Given the description of an element on the screen output the (x, y) to click on. 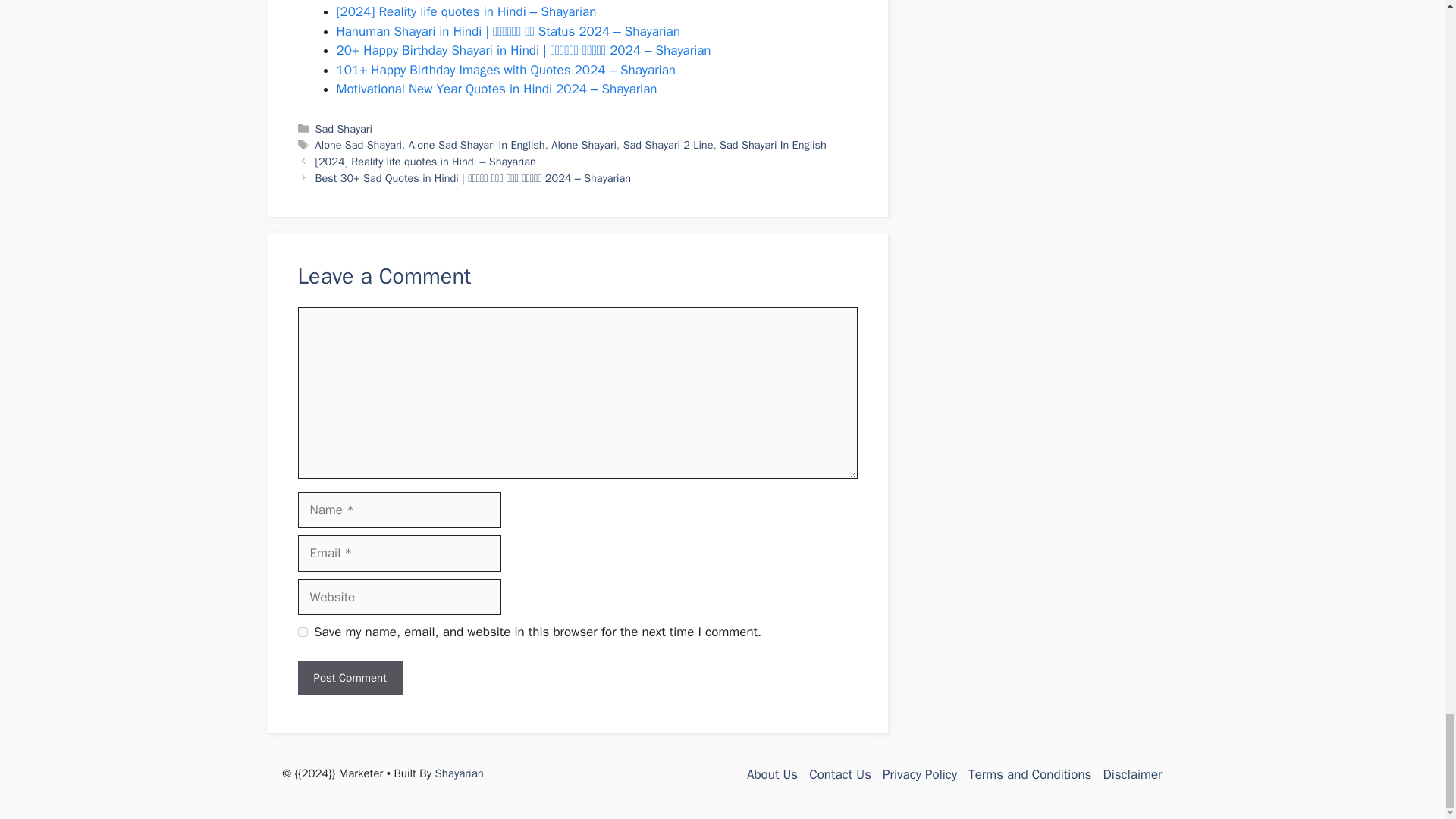
yes (302, 632)
Post Comment (349, 677)
